Given the description of an element on the screen output the (x, y) to click on. 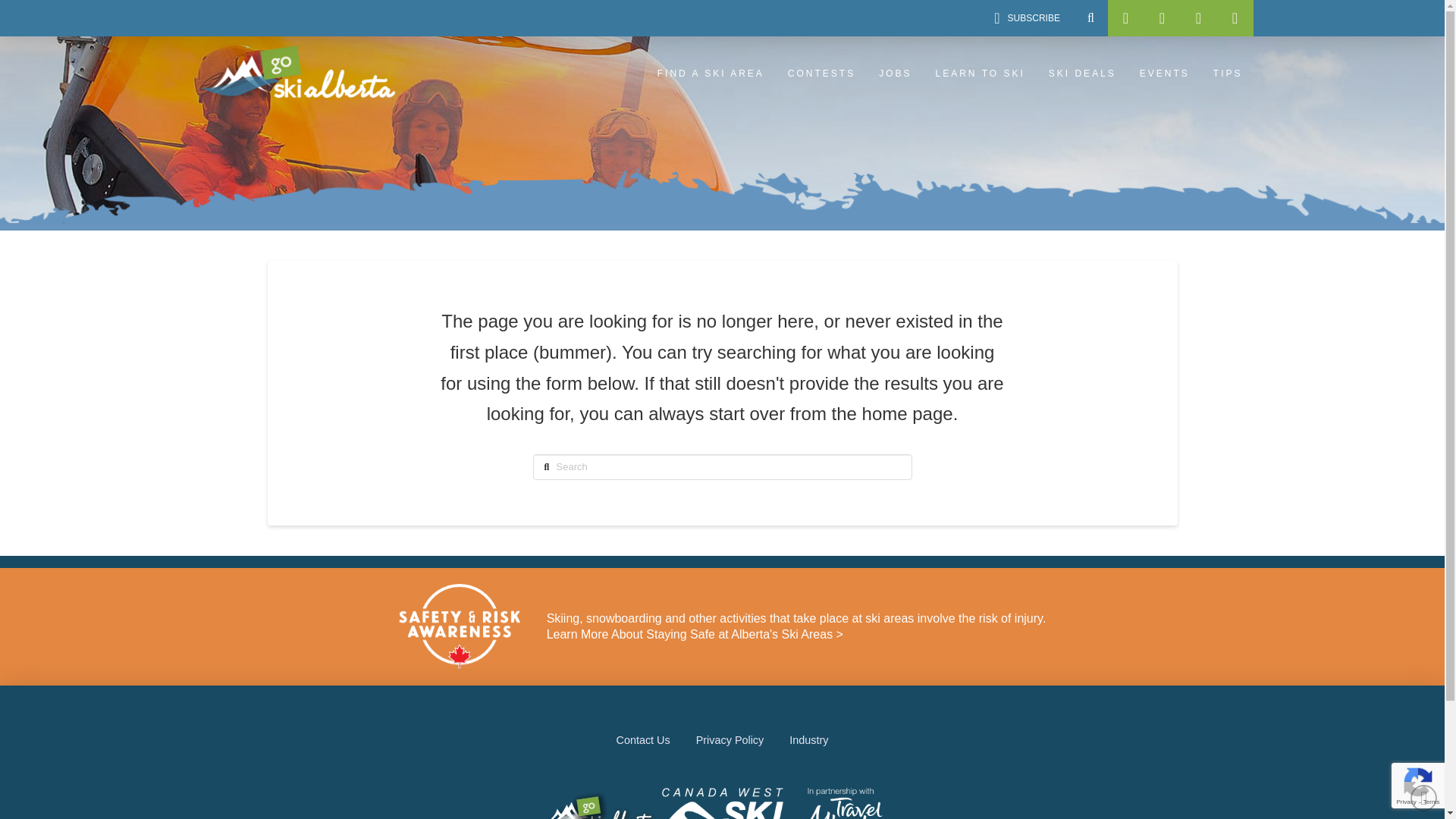
SUBSCRIBE (1026, 18)
LEARN TO SKI (979, 73)
Privacy Policy (729, 739)
EVENTS (1162, 73)
JOBS (893, 73)
CONTESTS (820, 73)
TIPS (1226, 73)
Back to Top (1423, 797)
Industry (808, 739)
SKI DEALS (1080, 73)
FIND A SKI AREA (709, 73)
Contact Us (643, 739)
